Given the description of an element on the screen output the (x, y) to click on. 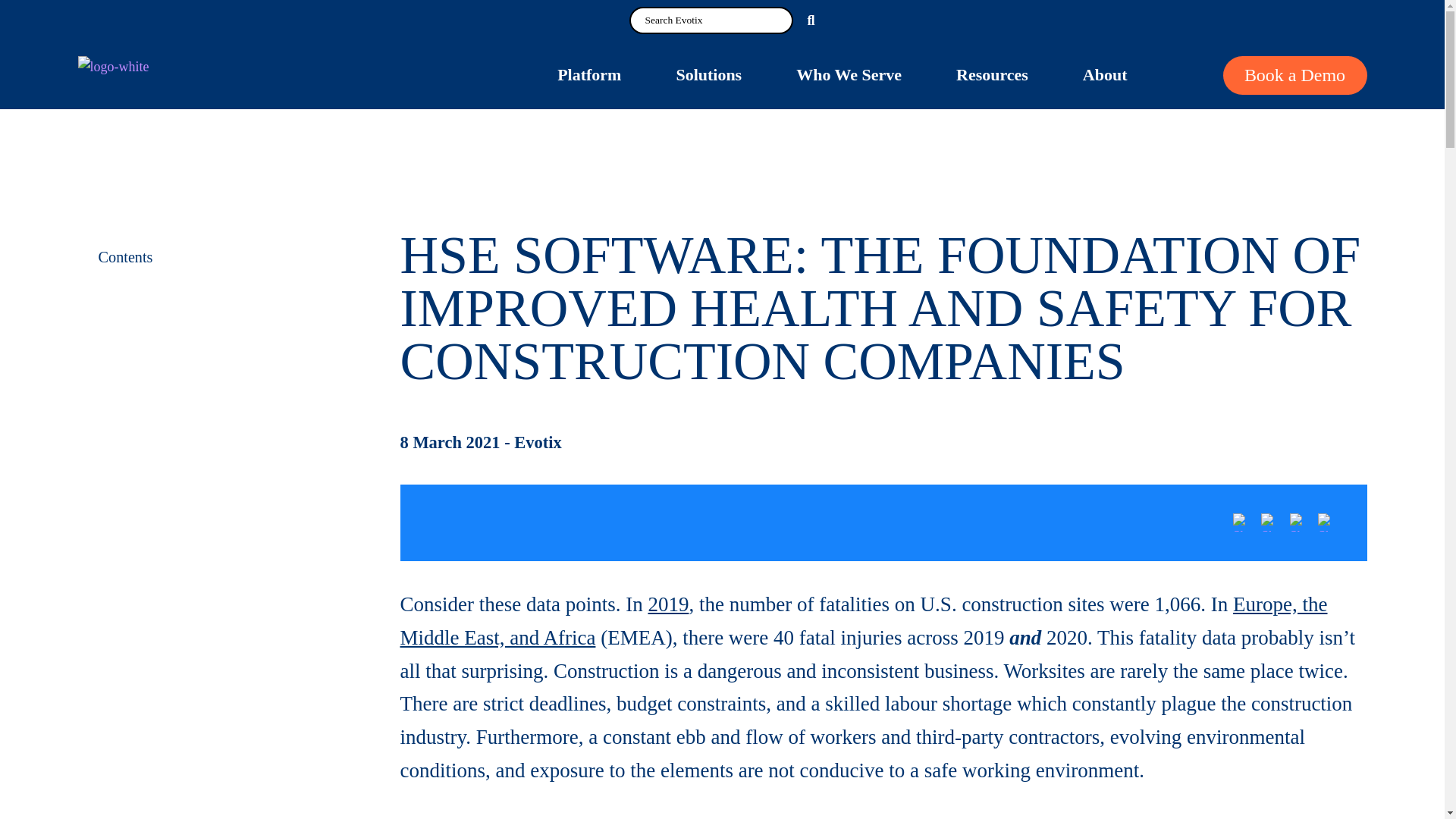
Solutions (707, 74)
Platform (588, 74)
